Given the description of an element on the screen output the (x, y) to click on. 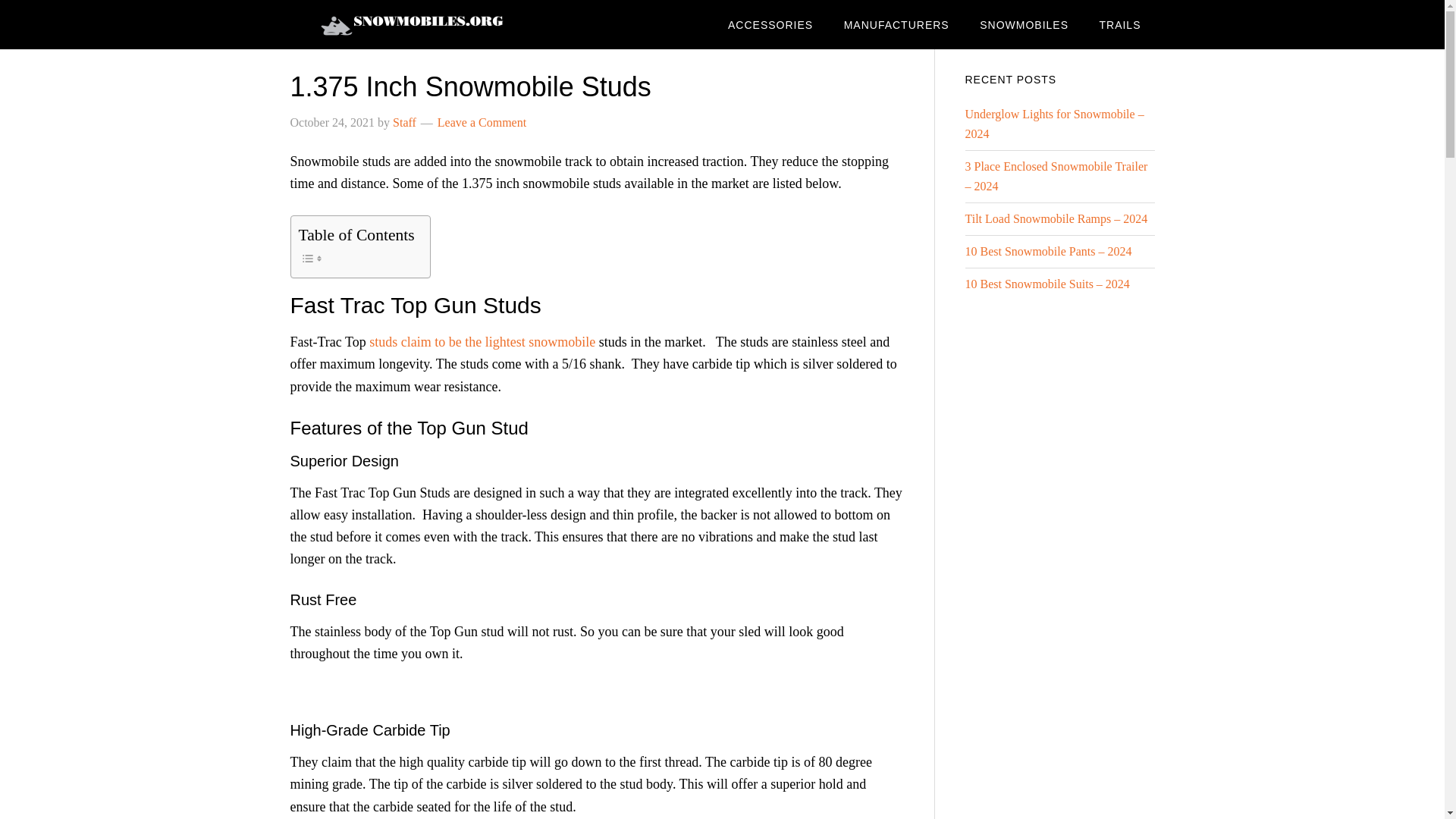
SNOWMOBILES.ORG (410, 24)
Staff (404, 122)
Leave a Comment (481, 122)
MANUFACTURERS (895, 24)
ACCESSORIES (770, 24)
TRAILS (1119, 24)
studs claim to be the lightest snowmobile (482, 341)
SNOWMOBILES (1023, 24)
